Given the description of an element on the screen output the (x, y) to click on. 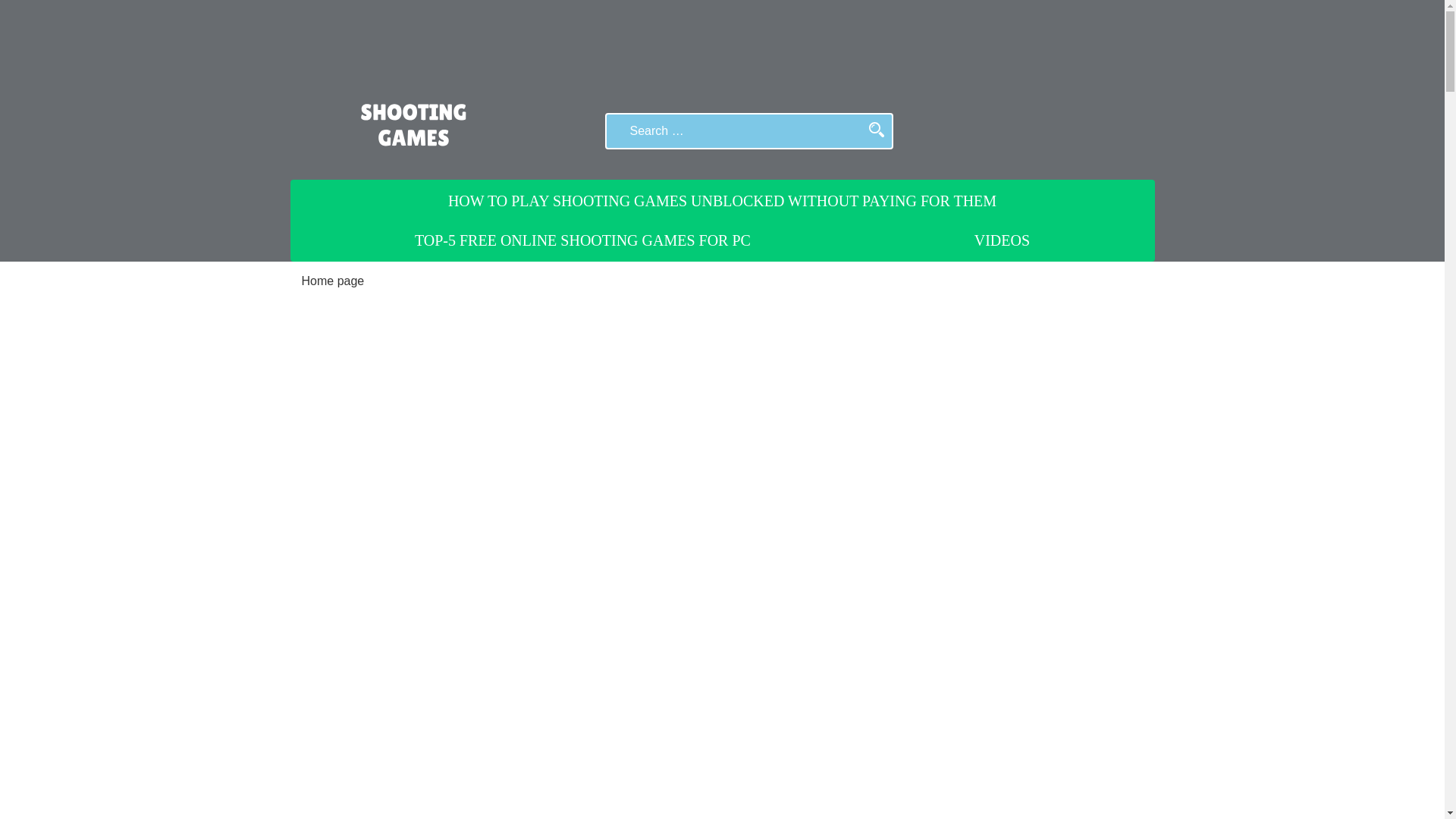
VIDEOS (1001, 240)
Home page (333, 280)
TOP-5 FREE ONLINE SHOOTING GAMES FOR PC (582, 240)
HOW TO PLAY SHOOTING GAMES UNBLOCKED WITHOUT PAYING FOR THEM (721, 200)
